Given the description of an element on the screen output the (x, y) to click on. 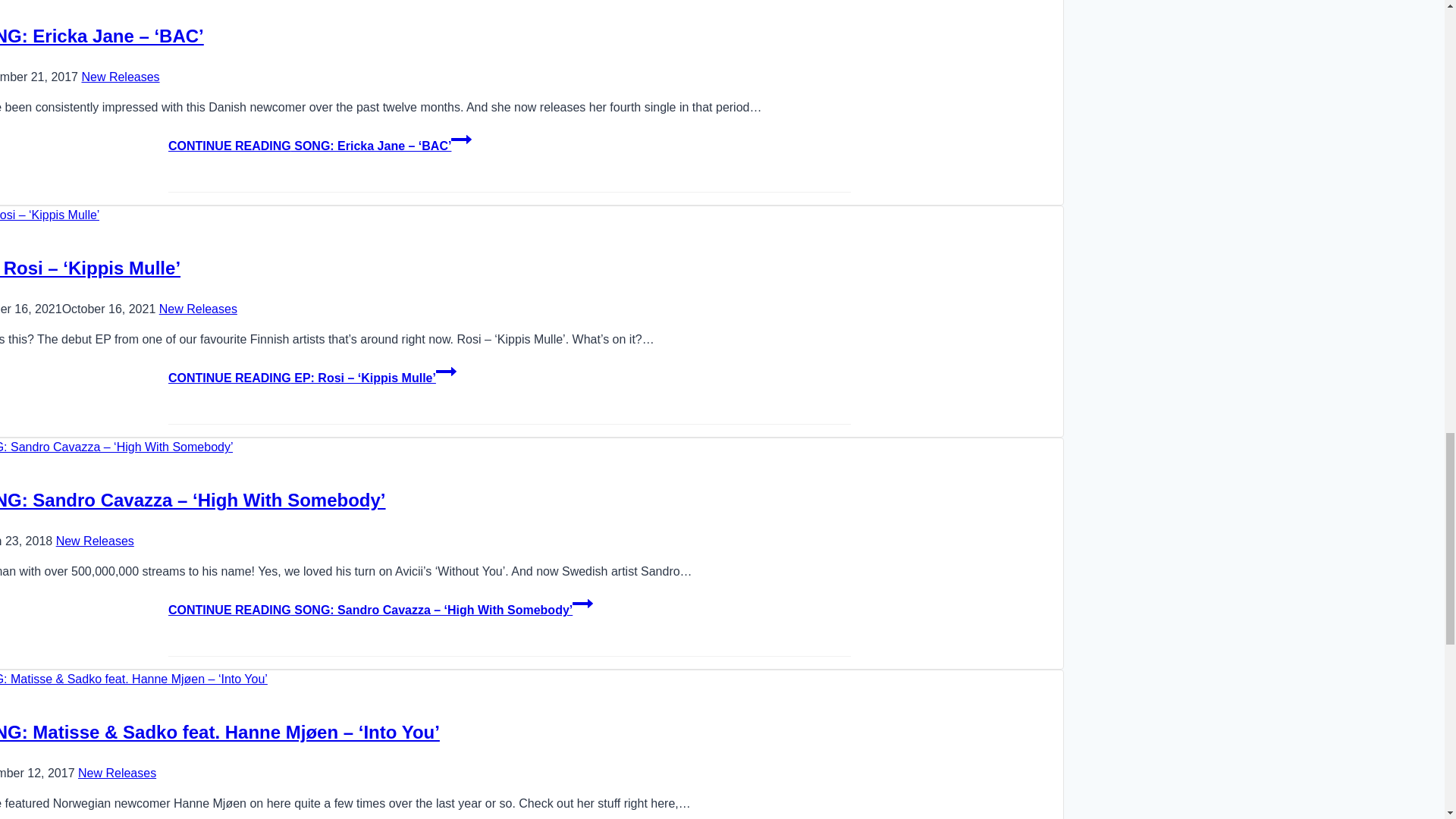
New Releases (197, 308)
New Releases (119, 76)
New Releases (94, 540)
New Releases (116, 772)
